Given the description of an element on the screen output the (x, y) to click on. 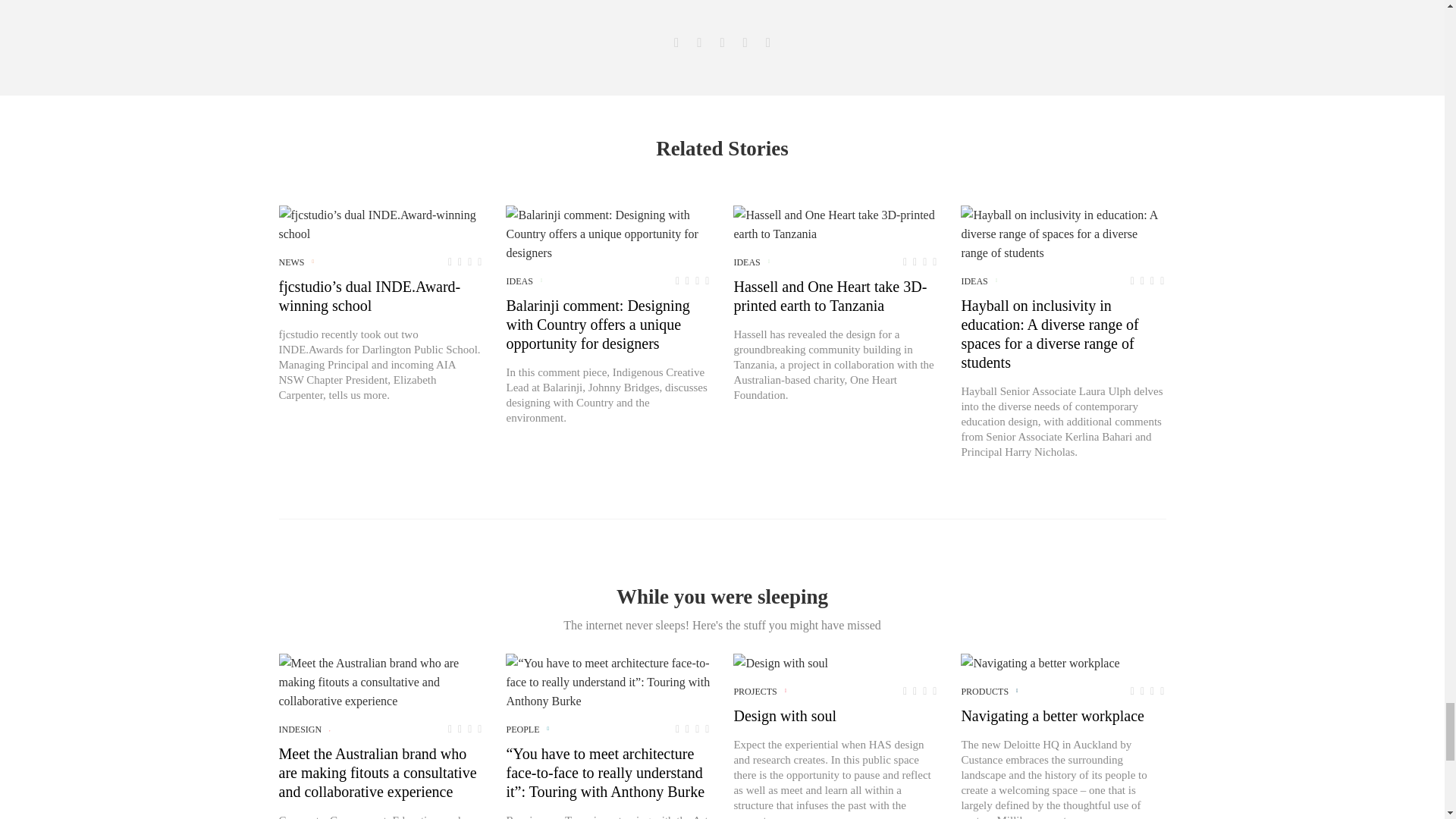
Design with soul (780, 662)
Navigating a better workplace (1039, 662)
Hassell and One Heart take 3D-printed earth to Tanzania (835, 224)
